Given the description of an element on the screen output the (x, y) to click on. 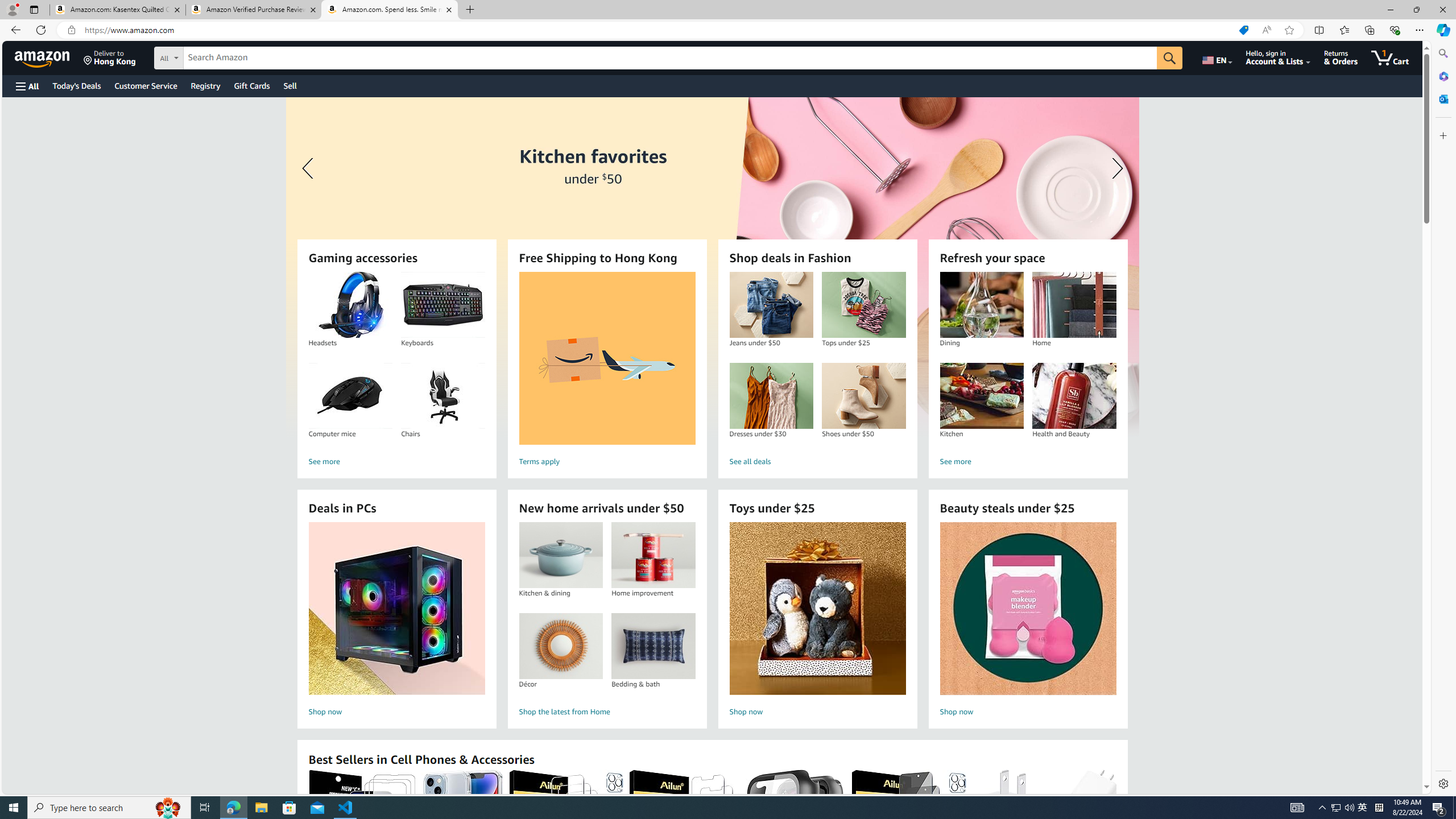
1 item in cart (1389, 57)
Class: a-carousel-card (711, 267)
Previous slide (309, 168)
Choose a language for shopping. (1216, 57)
Computer mice (350, 395)
Jeans under $50 (770, 304)
Shop Kitchen favorites (711, 267)
